Given the description of an element on the screen output the (x, y) to click on. 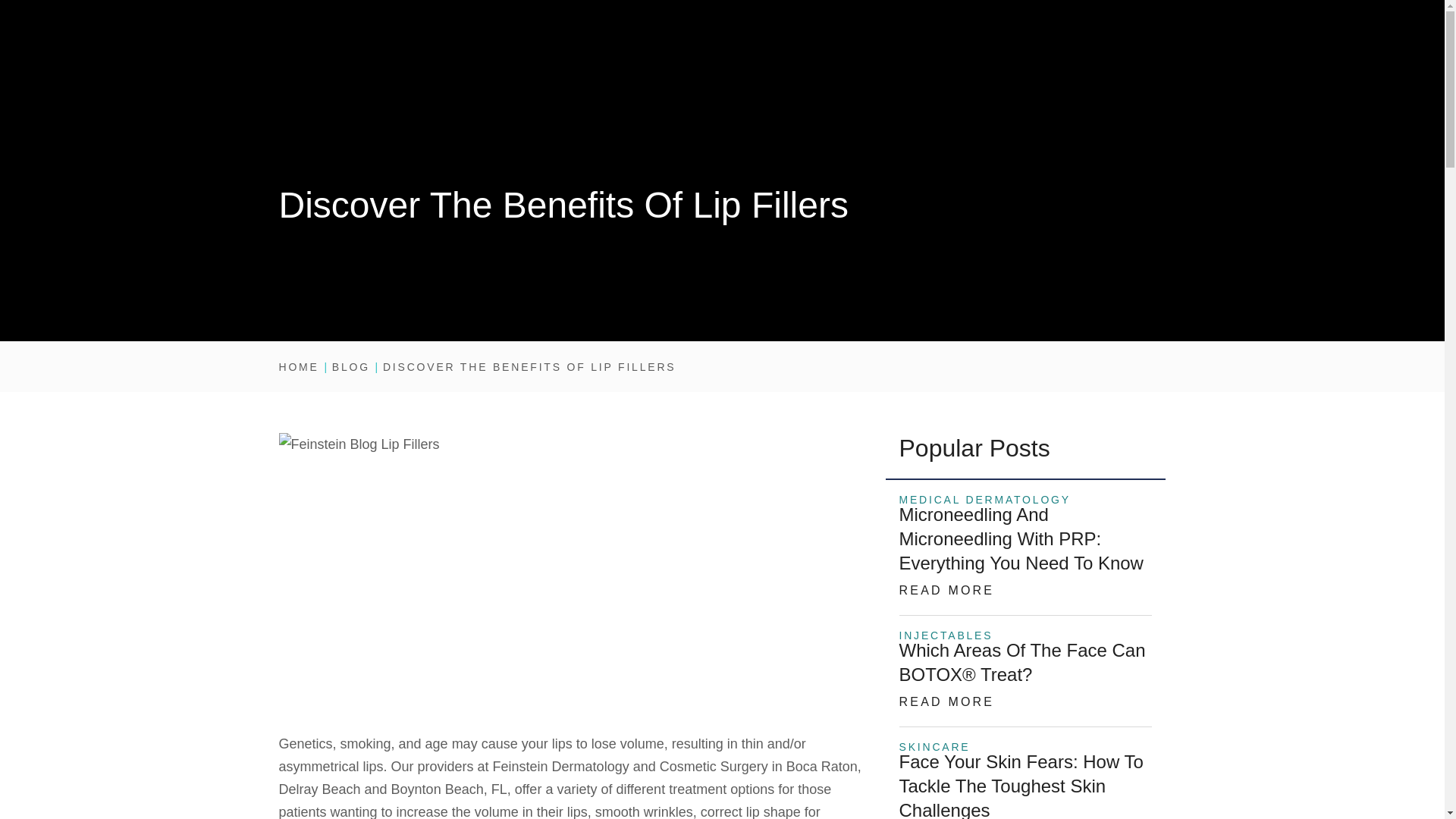
facebook (501, 19)
SKIN CANCER (530, 64)
Blog (350, 367)
Home (298, 367)
DERMATOLOGY (641, 64)
youtube (579, 19)
MAKE A PAYMENT (695, 20)
REQUEST CONSULTATION (1052, 20)
Discover The Benefits Of Lip Fillers (529, 367)
ABOUT (445, 64)
